Given the description of an element on the screen output the (x, y) to click on. 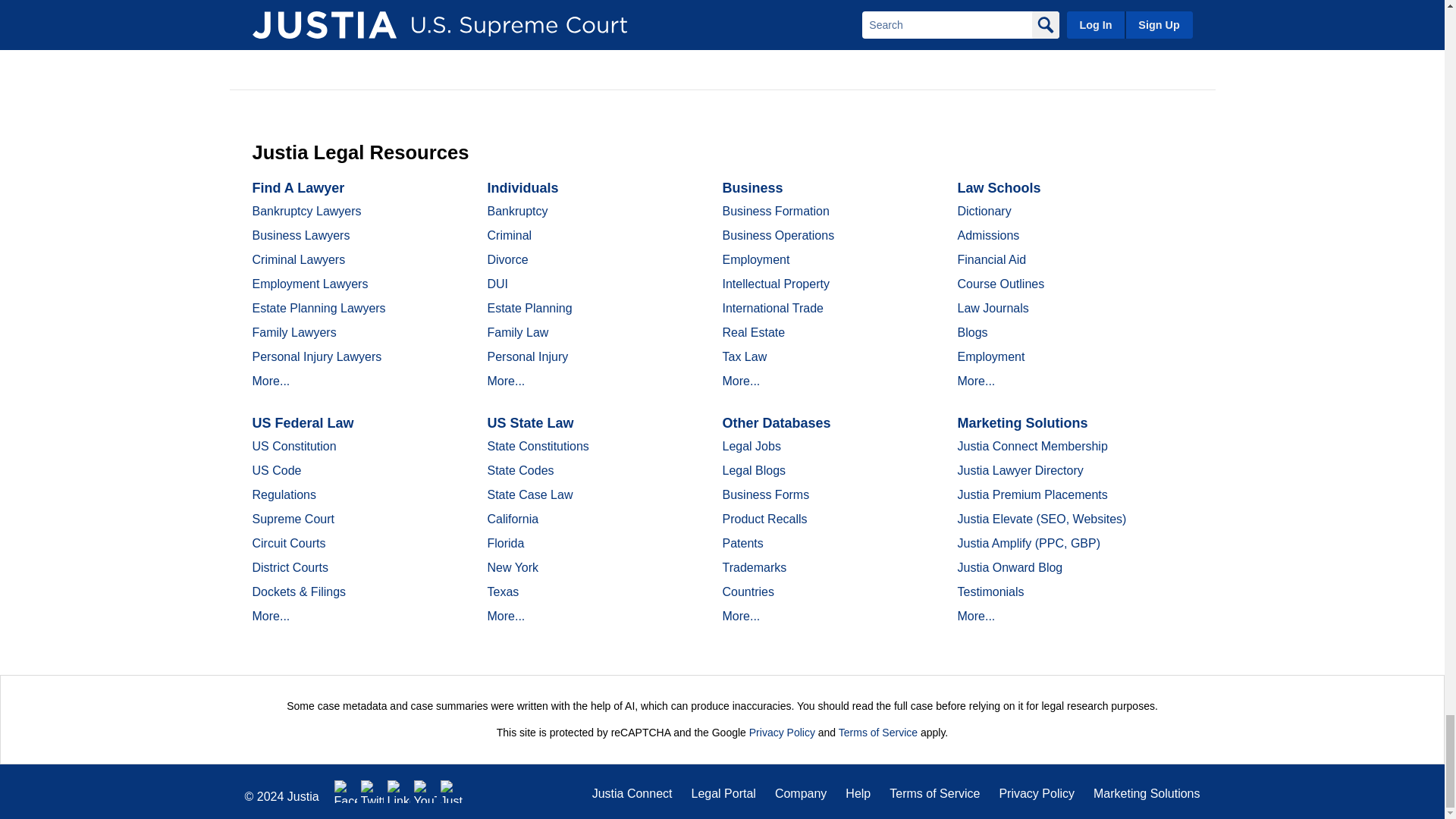
Twitter (372, 791)
LinkedIn (398, 791)
Facebook (345, 791)
YouTube (424, 791)
Justia Lawyer Directory (452, 791)
